Given the description of an element on the screen output the (x, y) to click on. 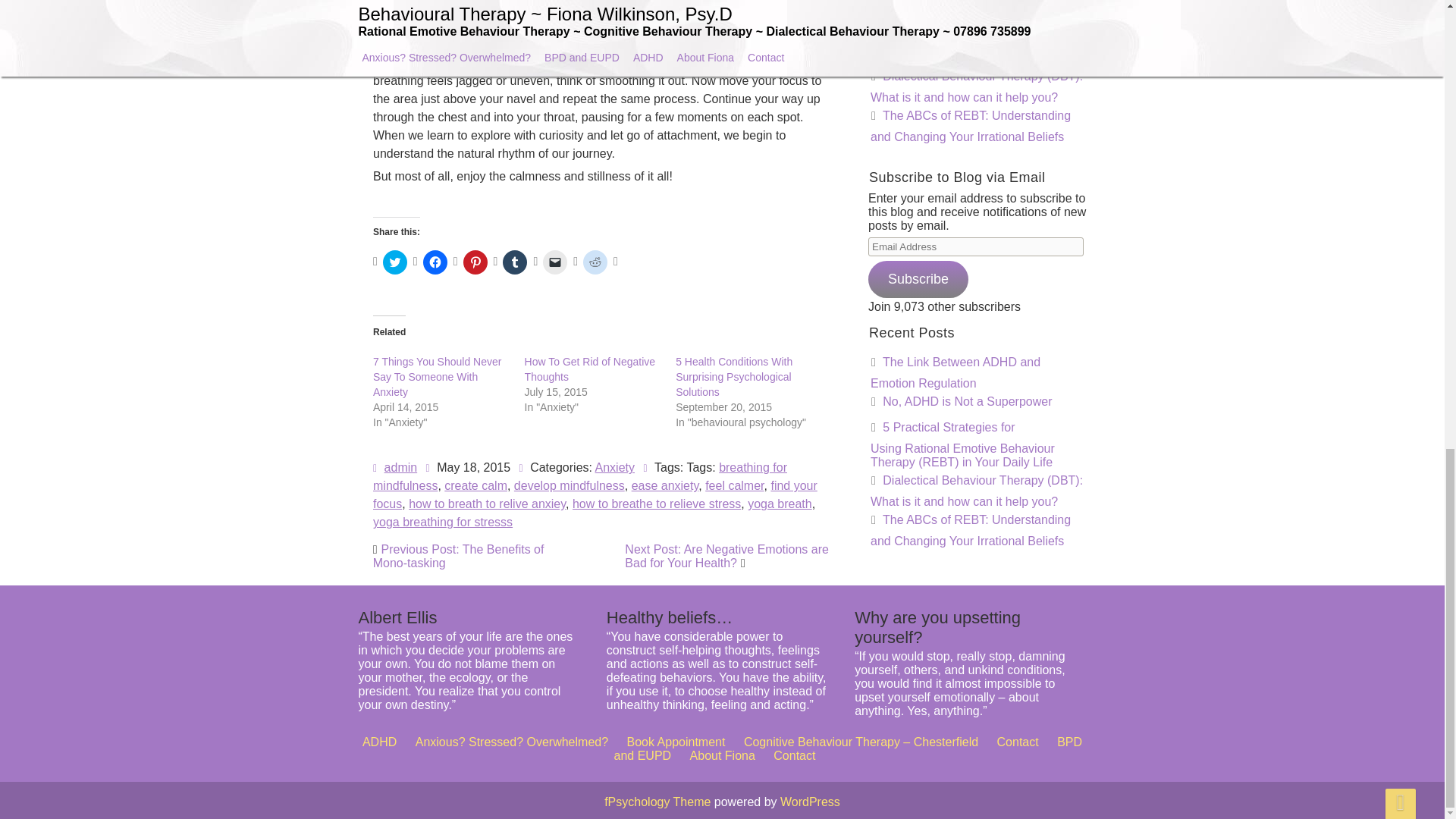
Click to share on Reddit (595, 262)
find your focus (617, 429)
WordPress (810, 801)
Click to share on Tumblr (514, 262)
How To Get Rid of Negative Thoughts (609, 239)
ease anxiety (661, 408)
Anxiety (614, 353)
how to breathe to relieve stress (658, 459)
How To Get Rid of Negative Thoughts (589, 369)
Click to share on Twitter (394, 262)
fpsychology Theme (657, 801)
feel calmer (723, 414)
Subscribe (917, 278)
breathing for mindfulness (617, 371)
how to breath to relive anxiey (503, 449)
